Given the description of an element on the screen output the (x, y) to click on. 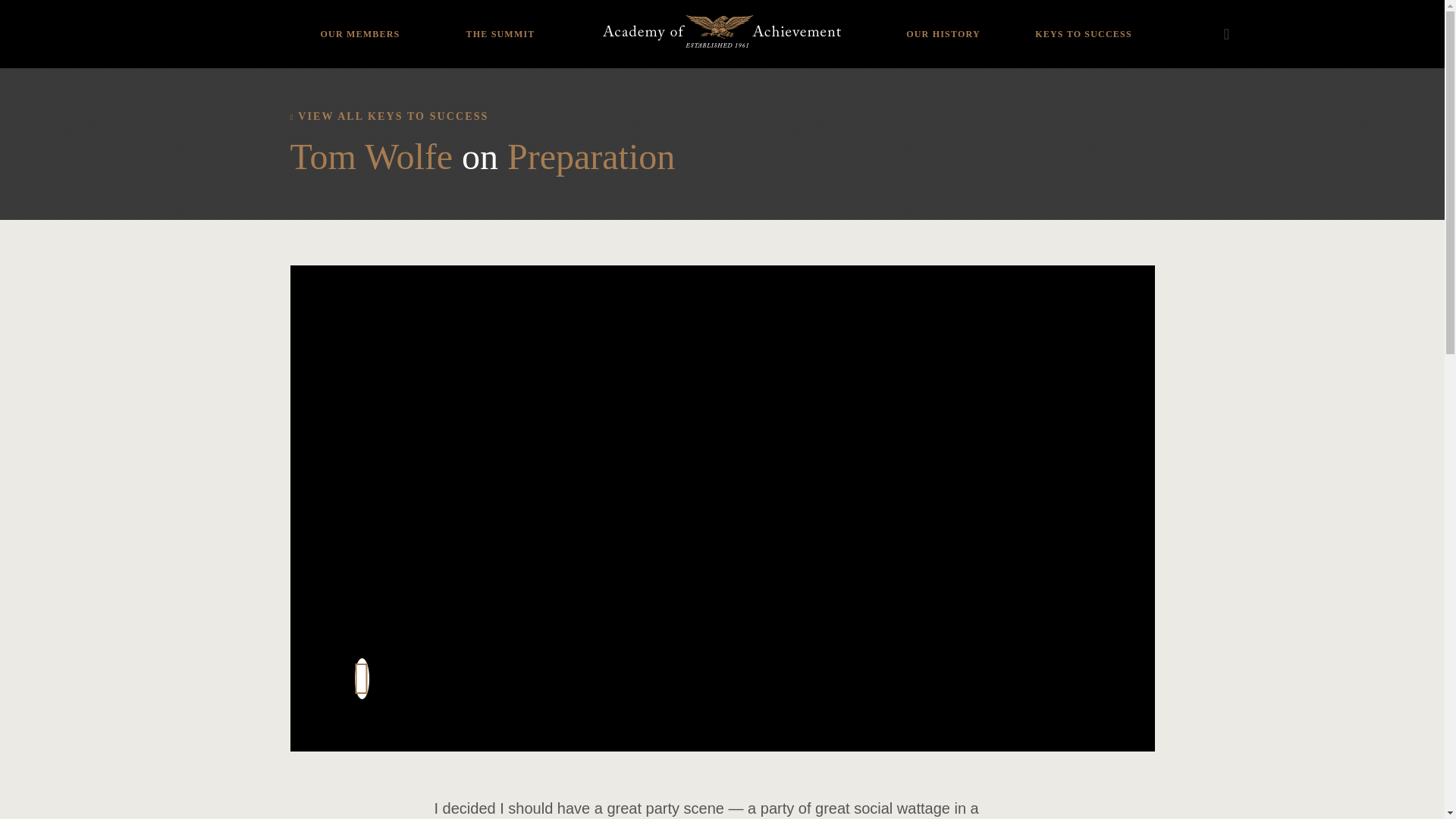
2003 (464, 5)
2002 (464, 23)
SPORTS (359, 5)
ACHIEVER UNIVERSE (359, 23)
KEYS TO SUCCESS (1083, 22)
GOLDEN PLATE AWARDEES (943, 18)
OUR MEMBERS (359, 22)
OUR HISTORY (943, 22)
THE SUMMIT (500, 22)
